Given the description of an element on the screen output the (x, y) to click on. 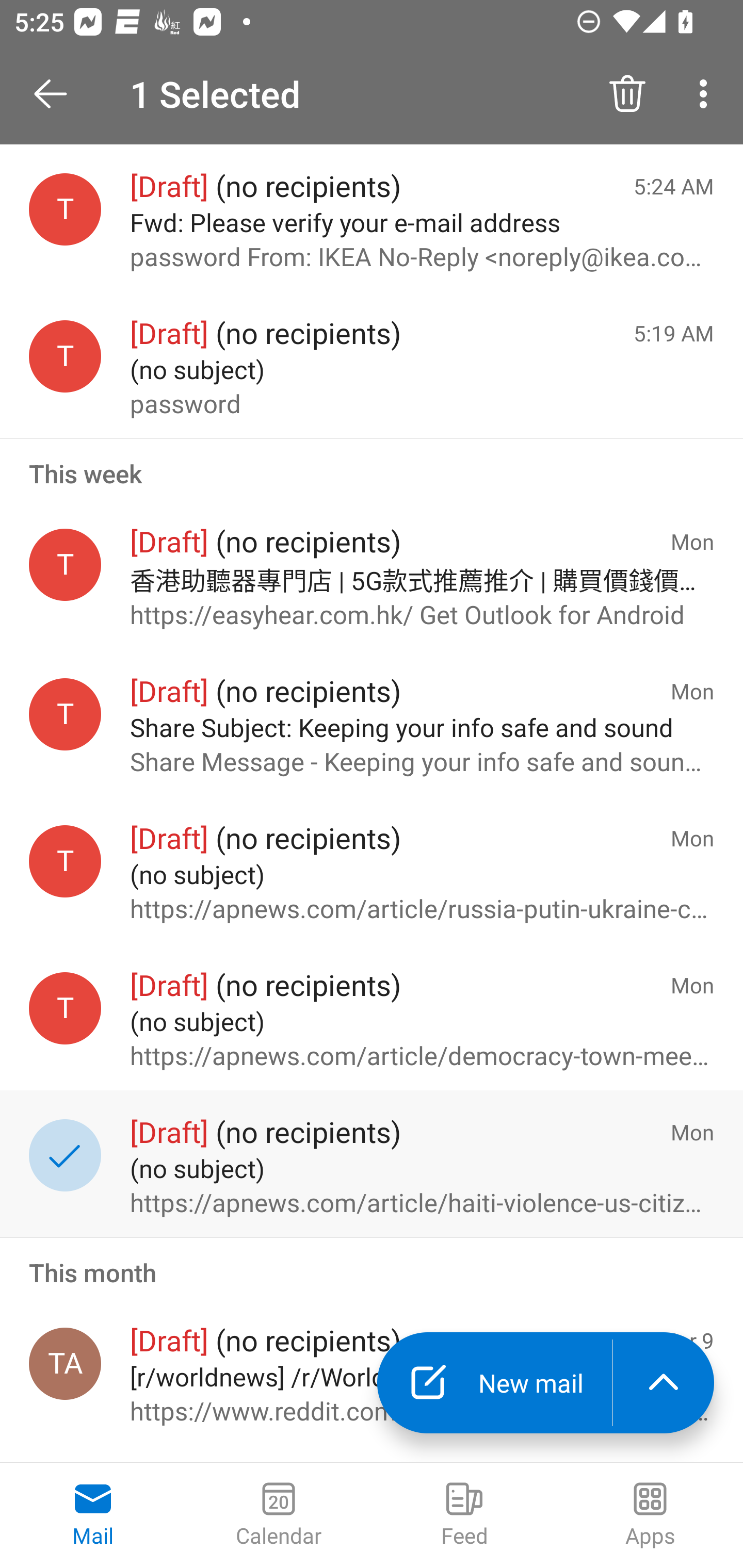
Delete (626, 93)
More options (706, 93)
Open Navigation Drawer (57, 94)
testappium002@outlook.com (64, 210)
testappium002@outlook.com (64, 355)
testappium002@outlook.com (64, 564)
testappium002@outlook.com (64, 714)
testappium002@outlook.com (64, 860)
testappium002@outlook.com (64, 1008)
Test Appium, testappium002@outlook.com (64, 1364)
New mail (494, 1382)
launch the extended action menu (663, 1382)
Calendar (278, 1515)
Feed (464, 1515)
Apps (650, 1515)
